Given the description of an element on the screen output the (x, y) to click on. 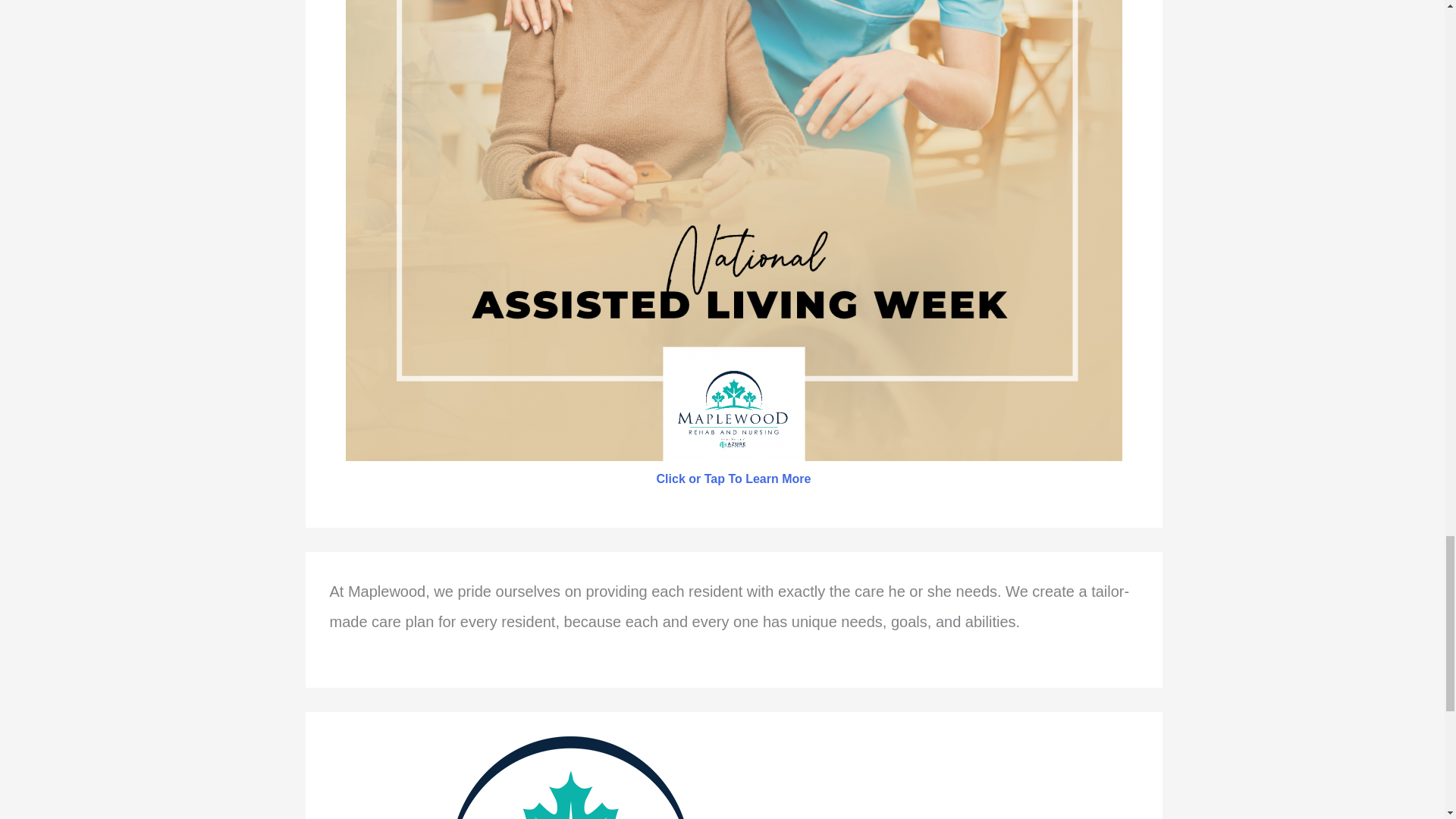
Click or Tap To Learn More (733, 478)
